Given the description of an element on the screen output the (x, y) to click on. 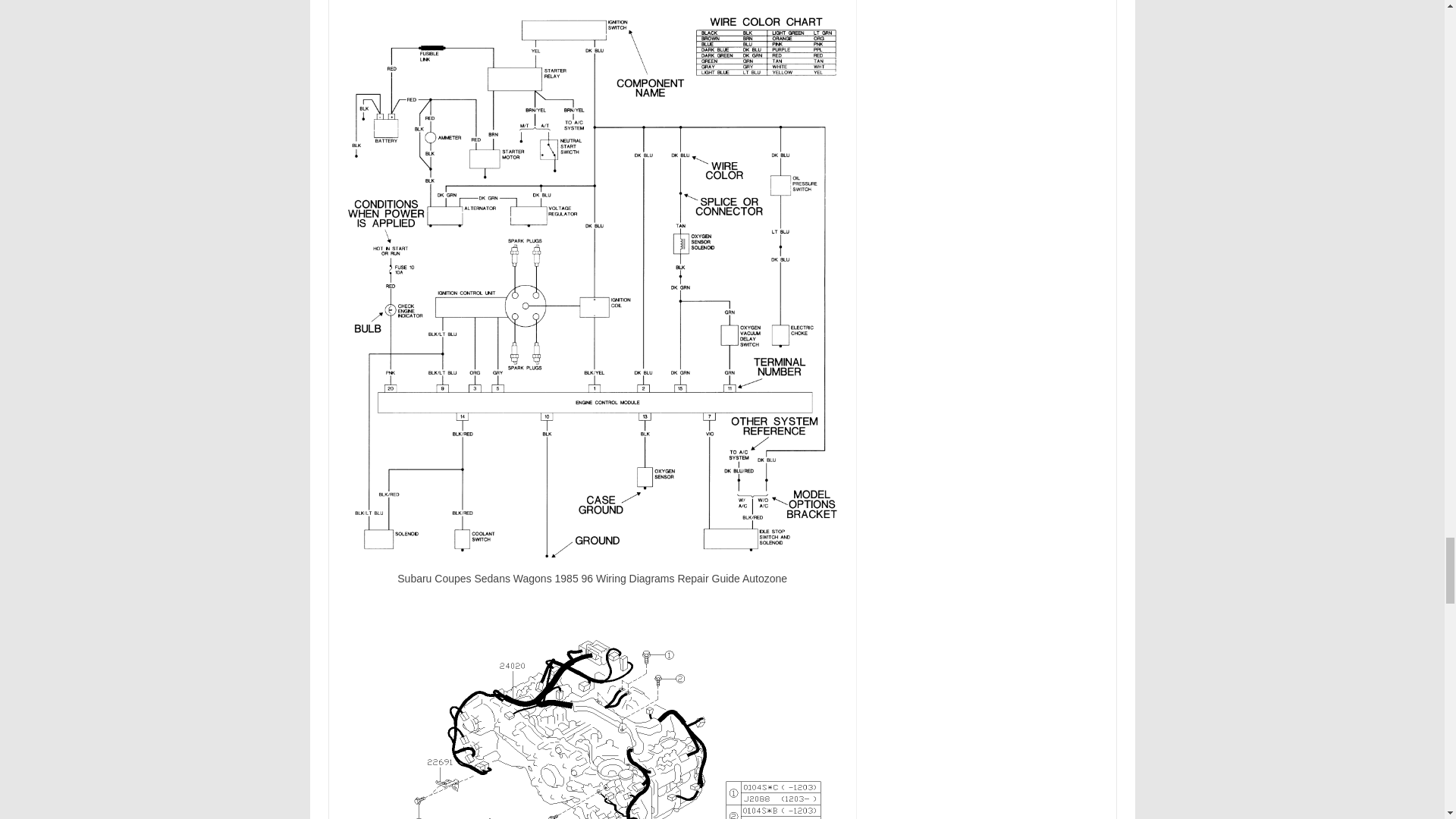
Engine Wiring Harness 2015 Subaru Impreza Sedan (591, 722)
